Given the description of an element on the screen output the (x, y) to click on. 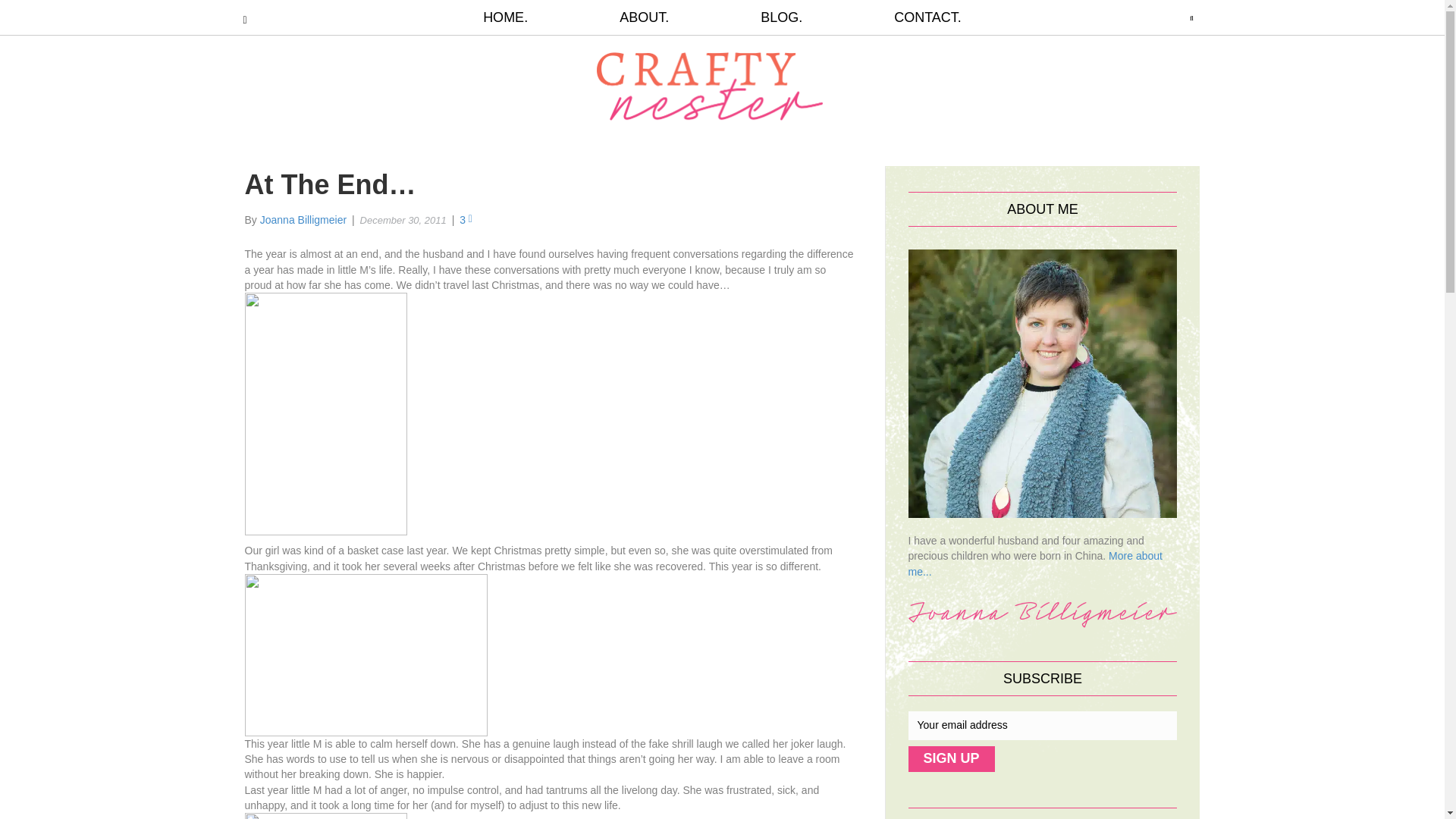
Sign up (951, 759)
More about me... (1034, 563)
Joanna Headshot (1042, 382)
HOME. (528, 17)
Joanna Billigmeier (303, 219)
BLOG. (780, 17)
3 (465, 219)
Sign up (951, 759)
ABOUT. (643, 17)
CONTACT. (904, 17)
